Given the description of an element on the screen output the (x, y) to click on. 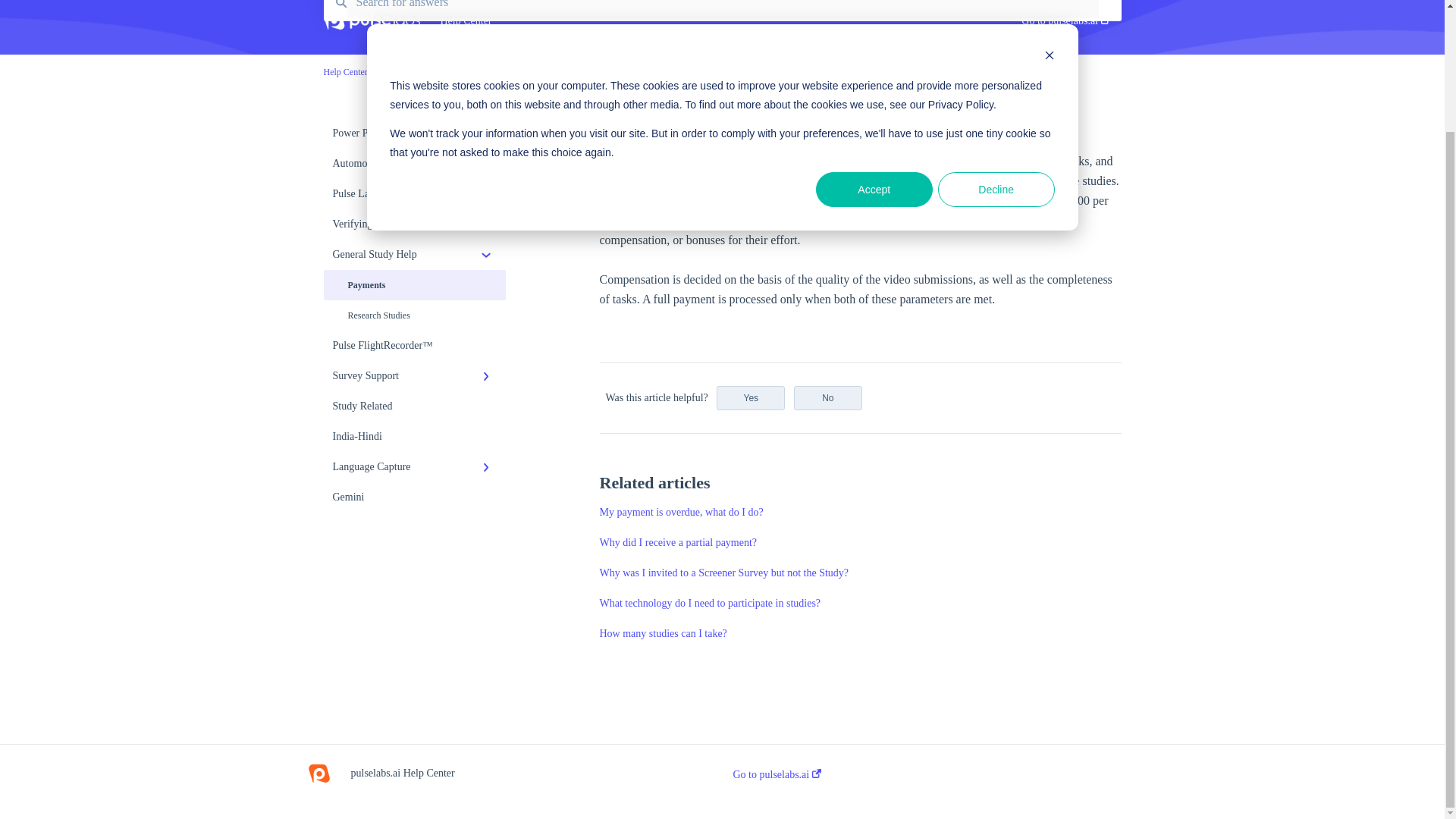
Study Related (414, 406)
Power Portal (414, 132)
Payments (414, 285)
General Study Help (421, 71)
General Study Help (414, 254)
Pulse Labs Mobile App (414, 194)
Language Capture (414, 467)
Help Center (344, 71)
India-Hindi (414, 436)
Verifying Your Device (414, 224)
